Given the description of an element on the screen output the (x, y) to click on. 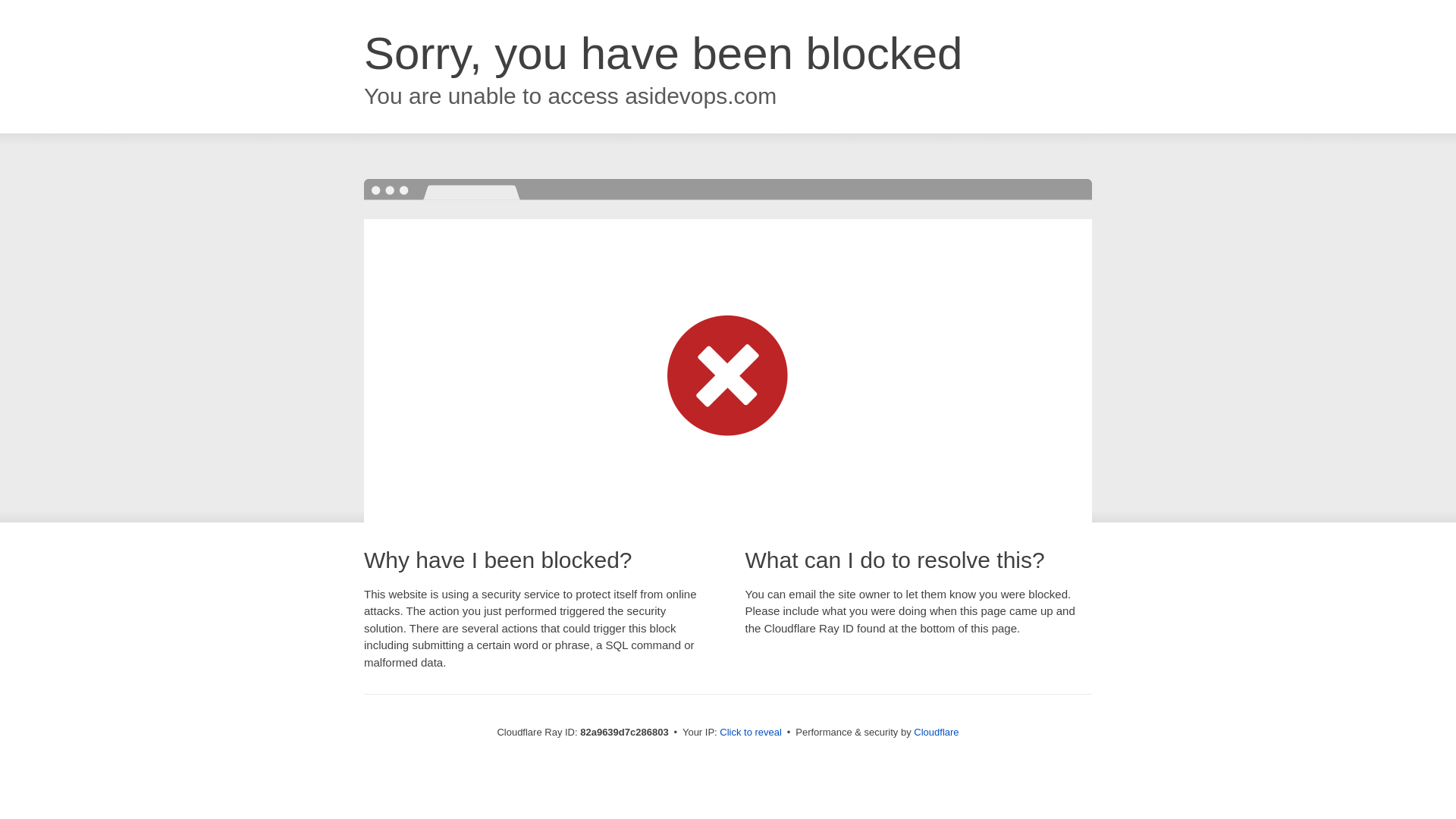
Cloudflare Element type: text (935, 731)
Click to reveal Element type: text (750, 732)
